Given the description of an element on the screen output the (x, y) to click on. 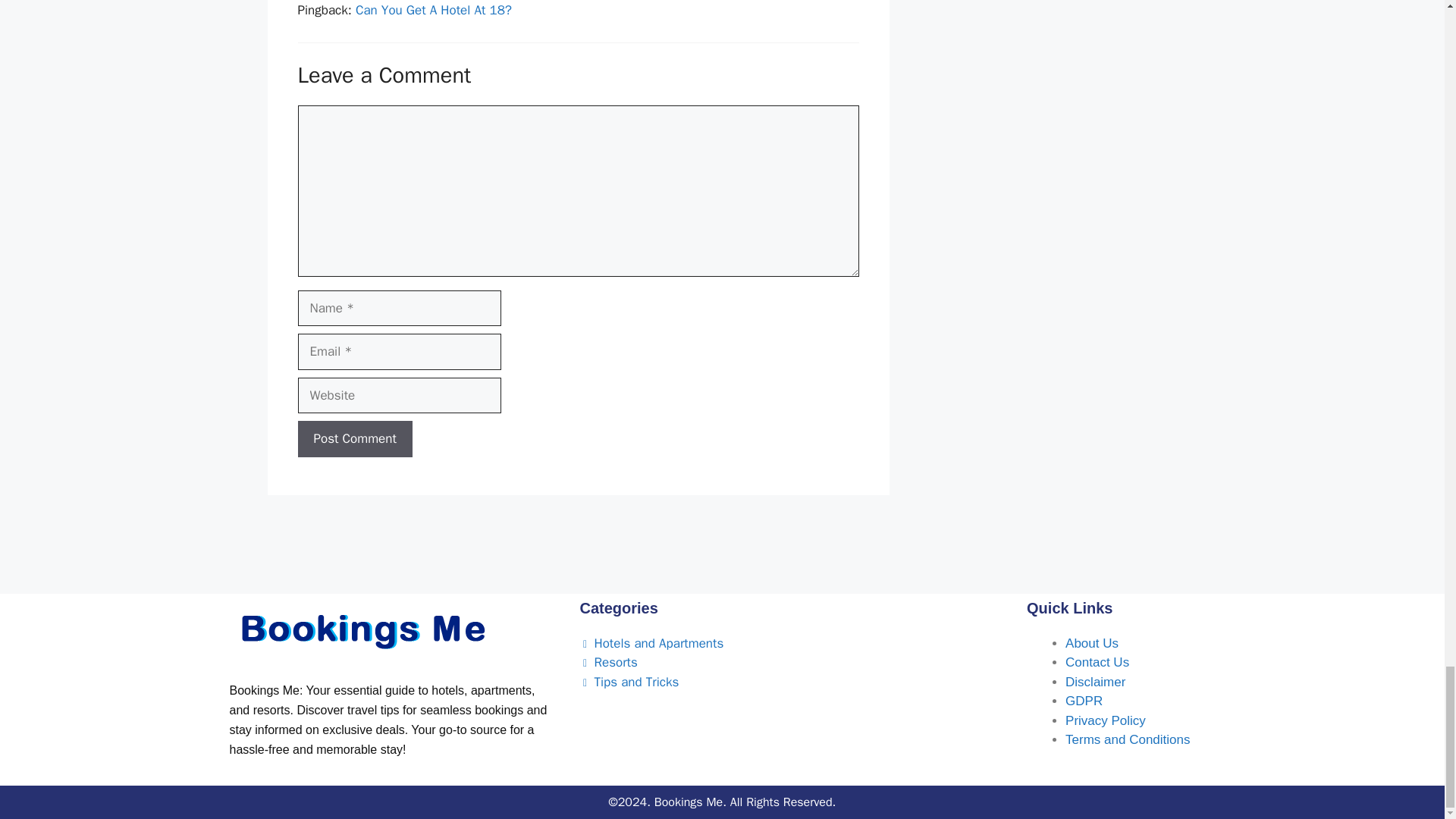
Hotels and Apartments (651, 643)
Post Comment (354, 438)
Post Comment (354, 438)
Resorts (608, 662)
Can You Get A Hotel At 18? (433, 10)
Tips and Tricks (628, 682)
